Given the description of an element on the screen output the (x, y) to click on. 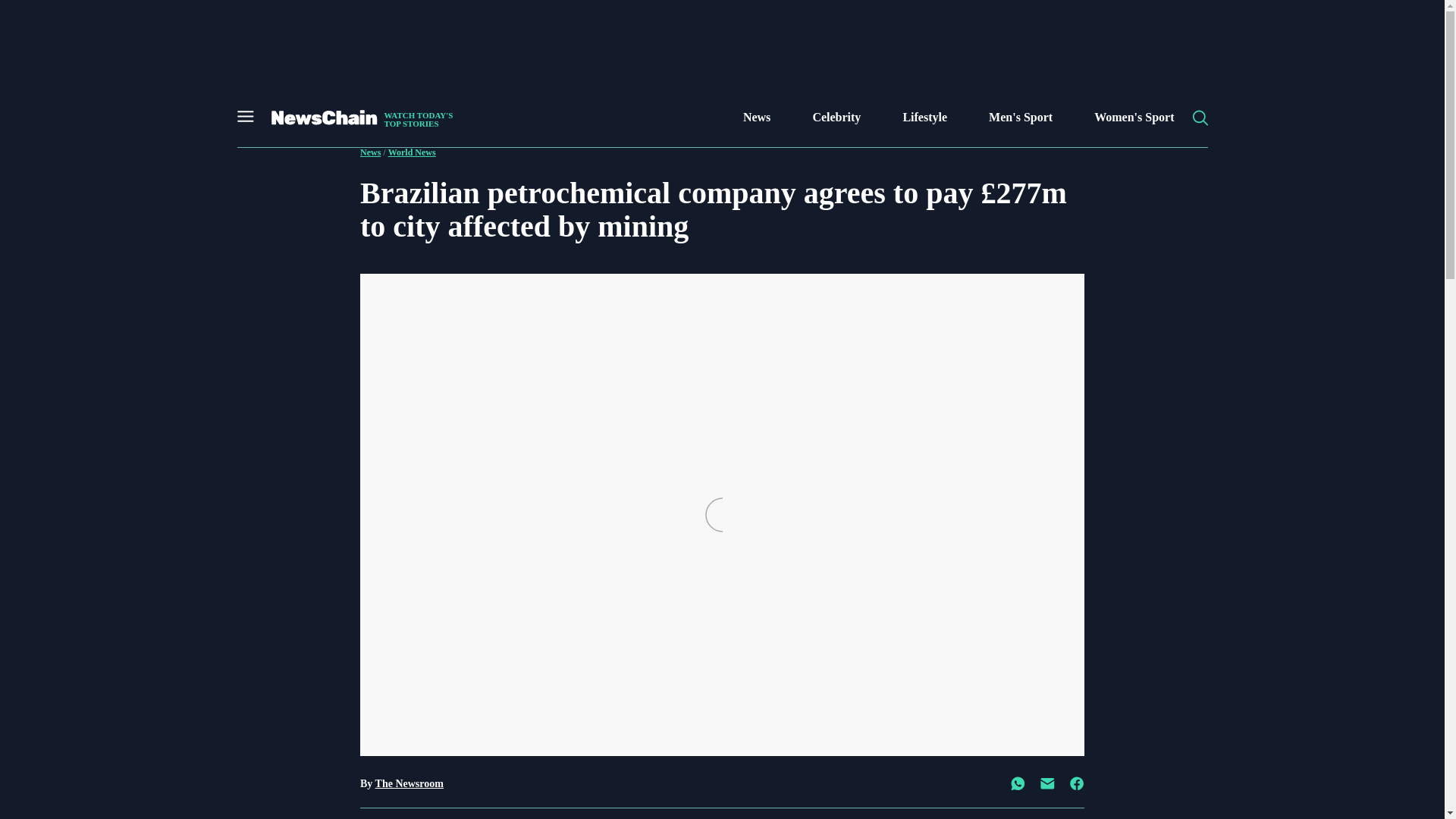
Lifestyle (924, 117)
News (369, 152)
World News (411, 152)
The Newsroom (409, 783)
Women's Sport (1133, 117)
Men's Sport (1020, 117)
Celebrity (836, 117)
News (756, 117)
